Given the description of an element on the screen output the (x, y) to click on. 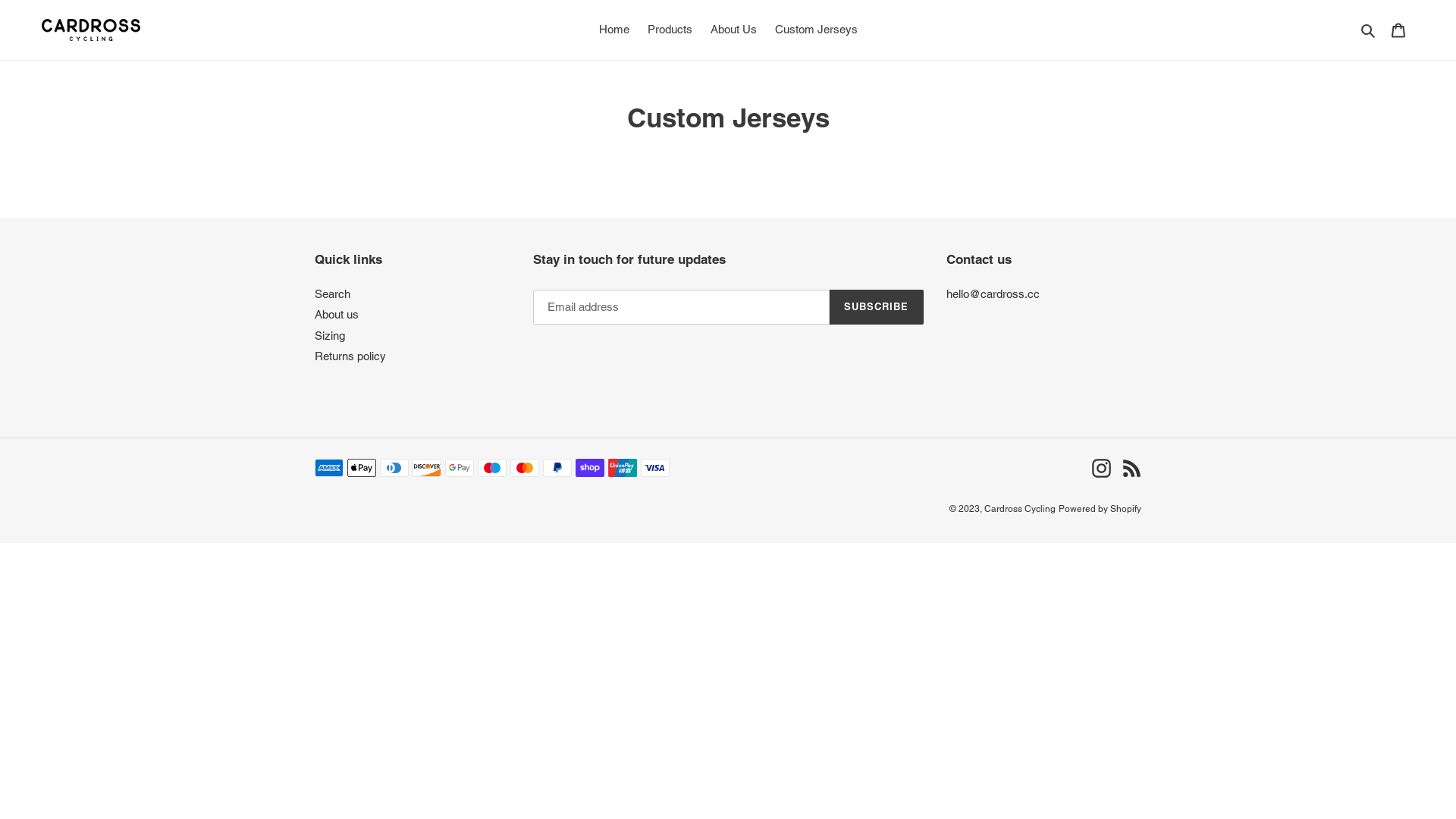
Cardross Cycling Element type: text (1019, 508)
Search Element type: text (1368, 29)
Powered by Shopify Element type: text (1099, 508)
SUBSCRIBE Element type: text (875, 306)
Cart Element type: text (1398, 29)
Returns policy Element type: text (349, 355)
About Us Element type: text (732, 29)
Sizing Element type: text (329, 335)
Search Element type: text (332, 293)
Products Element type: text (669, 29)
RSS Element type: text (1131, 467)
Custom Jerseys Element type: text (816, 29)
About us Element type: text (336, 313)
Home Element type: text (614, 29)
Instagram Element type: text (1101, 467)
